Given the description of an element on the screen output the (x, y) to click on. 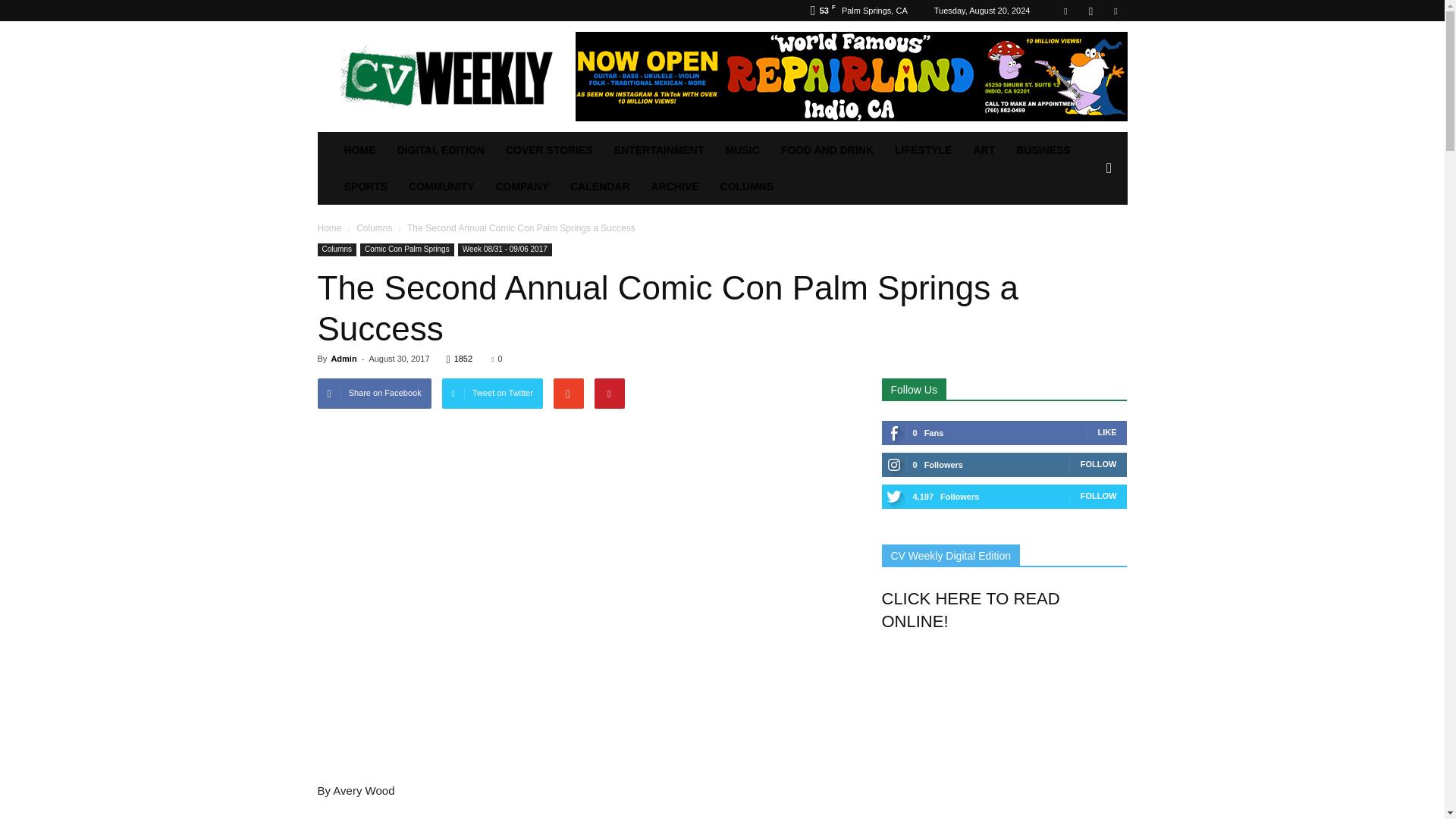
Facebook (1065, 10)
The Premiere Coachella Valley Newspaper (445, 76)
Twitter (1114, 10)
Instagram (1090, 10)
